Given the description of an element on the screen output the (x, y) to click on. 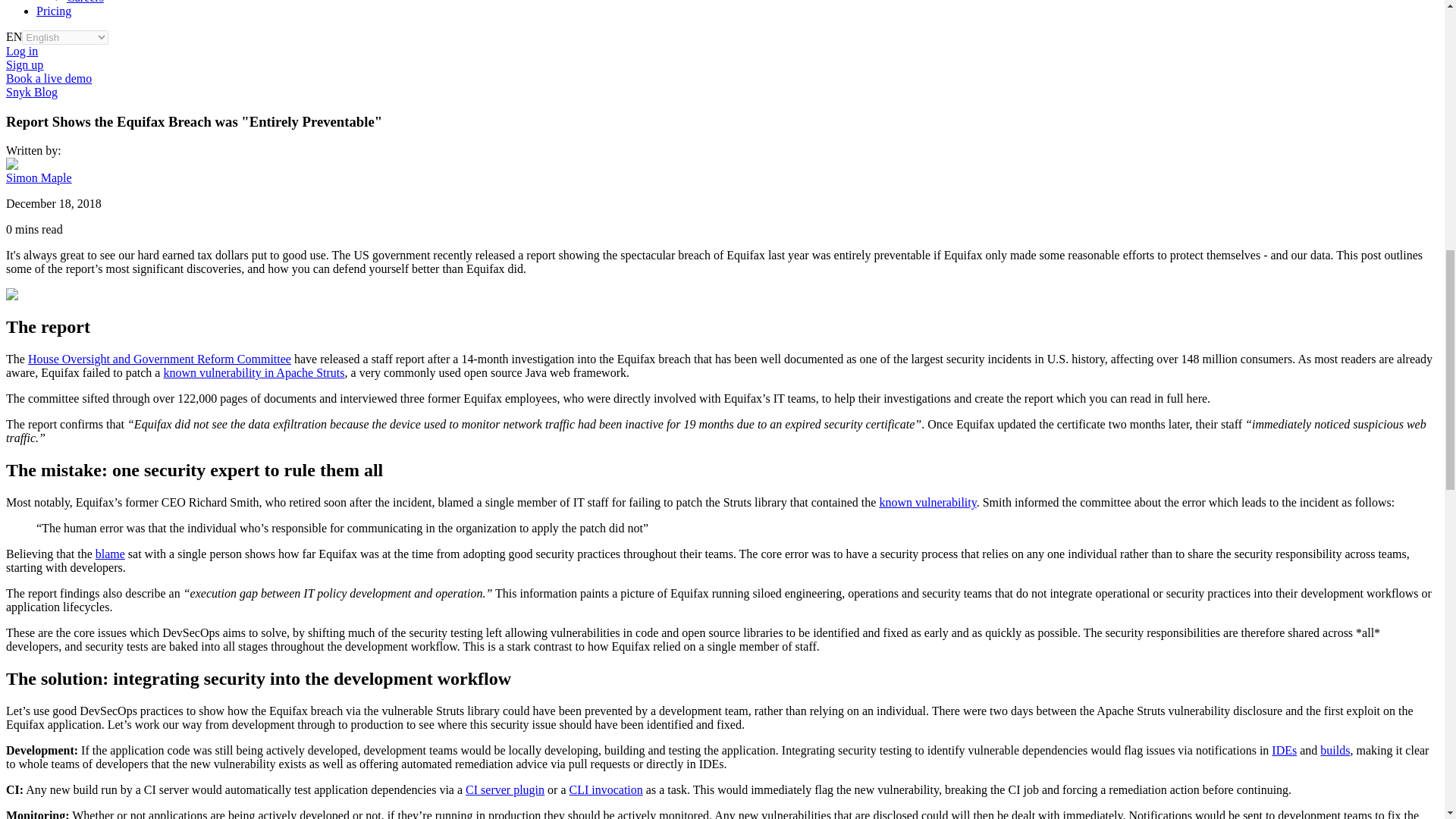
Sign up (24, 64)
Book a live demo (48, 78)
Pricing (53, 10)
Log in (21, 51)
Sign up (24, 64)
Book a live demo (48, 78)
Log in (21, 51)
